Given the description of an element on the screen output the (x, y) to click on. 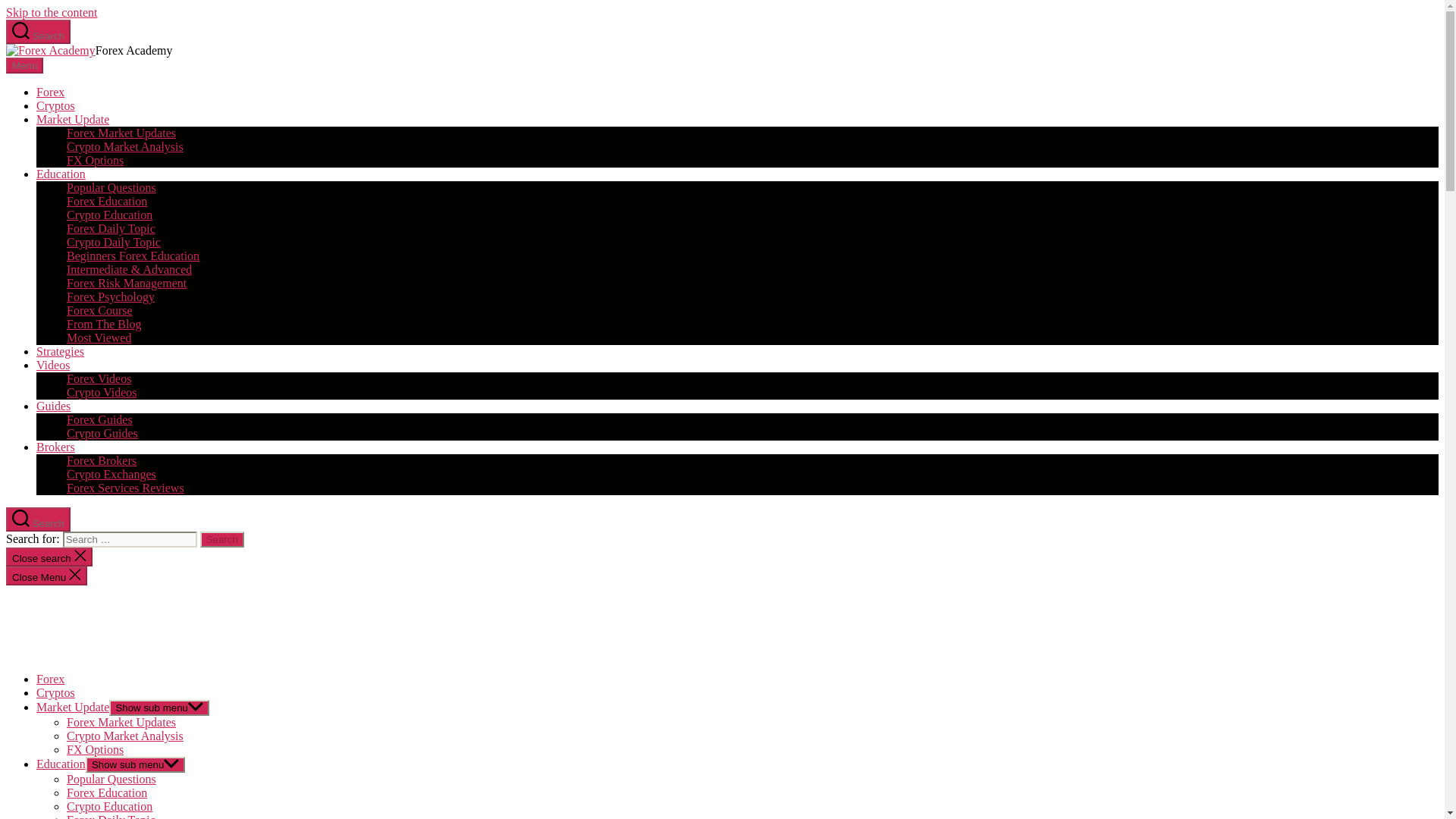
Crypto Guides (102, 432)
Cryptos (55, 105)
Forex Daily Topic (110, 228)
Forex Brokers (101, 460)
Brokers (55, 446)
Menu (24, 65)
Market Update (72, 119)
Search (222, 539)
Close Menu (46, 575)
Search (222, 539)
Popular Questions (110, 187)
Education (60, 173)
Forex Education (106, 201)
Search (222, 539)
Forex (50, 91)
